Given the description of an element on the screen output the (x, y) to click on. 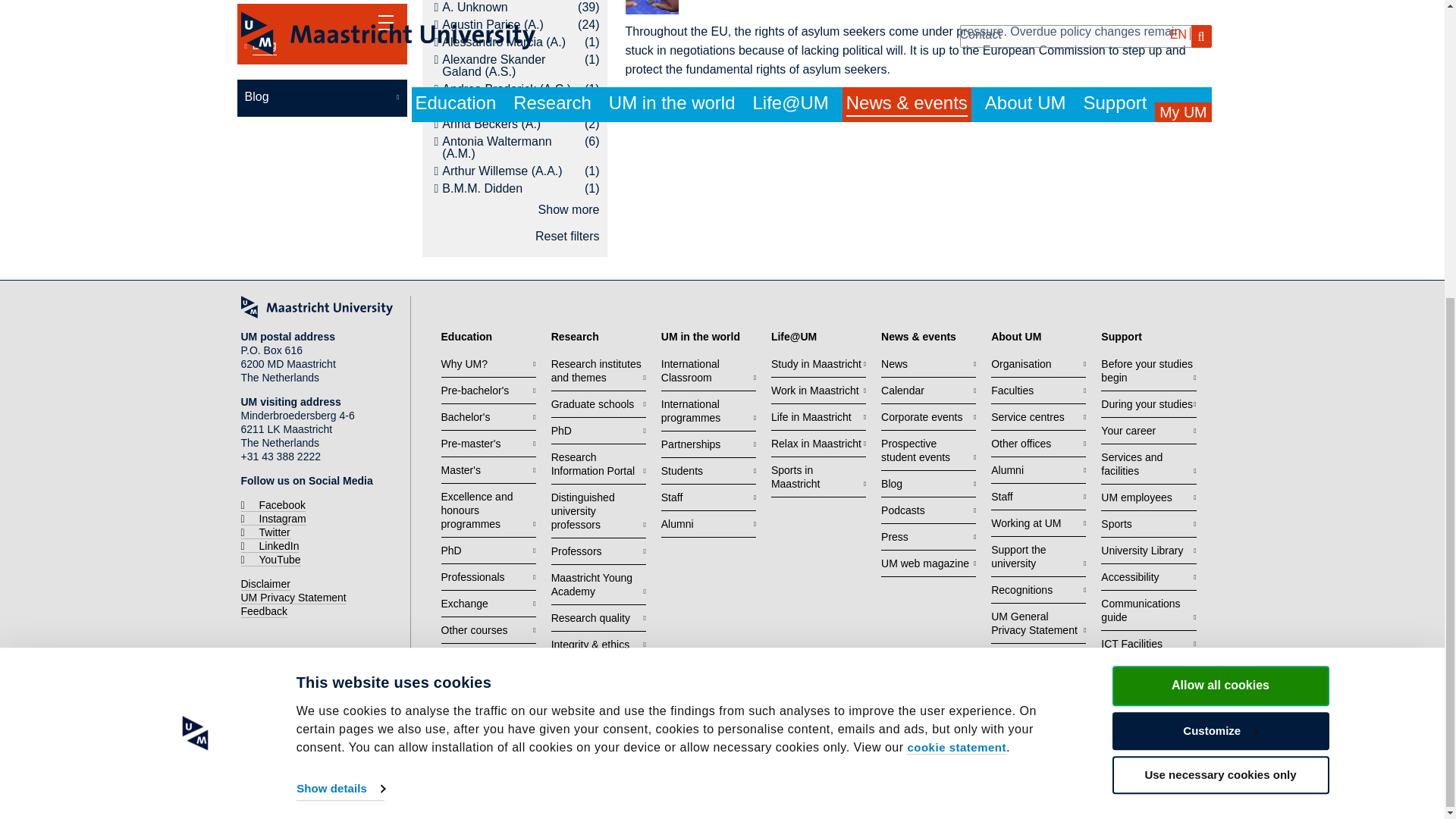
cookie statement (956, 286)
Show details (340, 327)
